Given the description of an element on the screen output the (x, y) to click on. 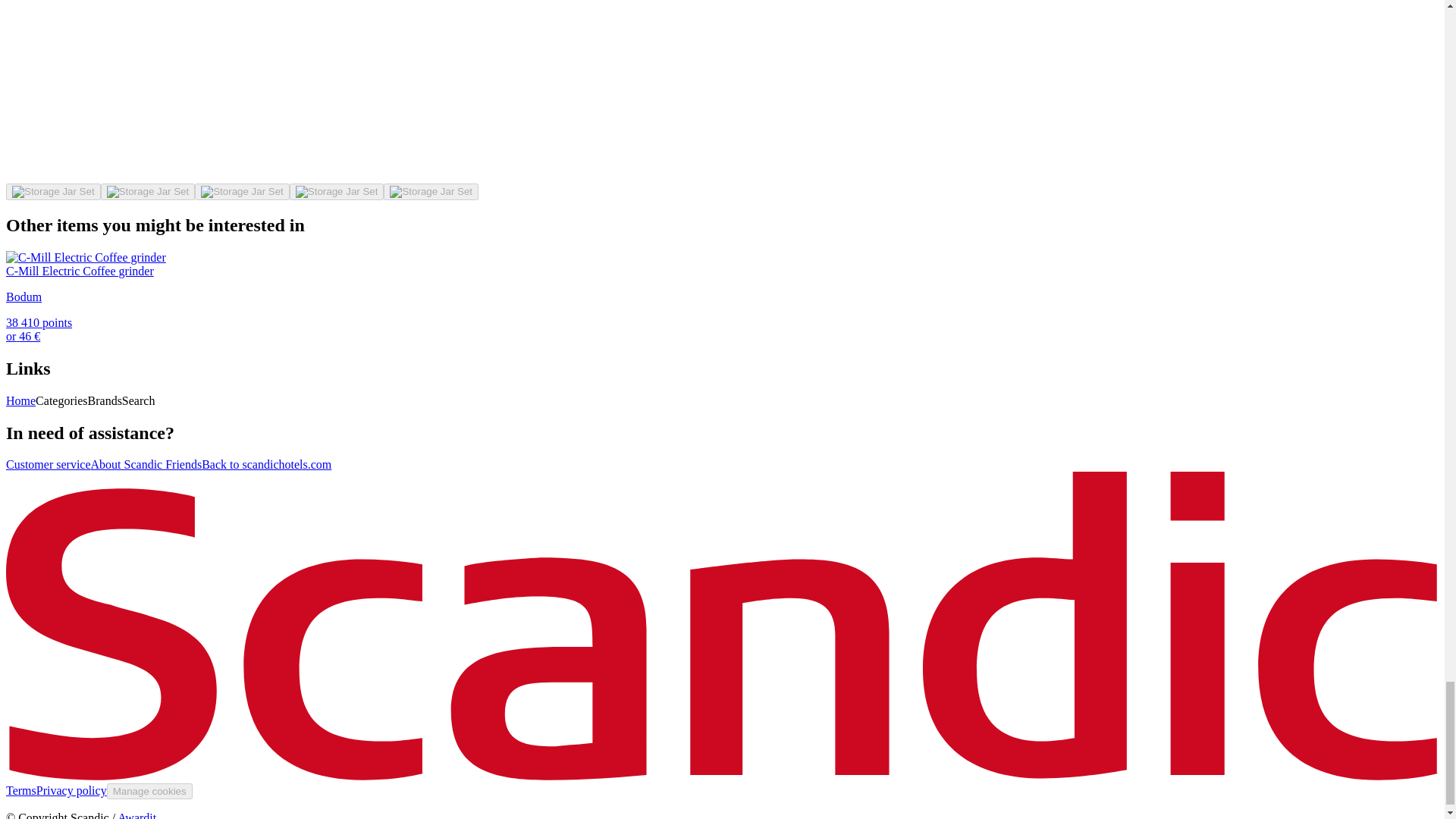
Back to scandichotels.com (266, 463)
Home (19, 400)
Privacy policy (71, 789)
About Scandic Friends (146, 463)
Customer service (47, 463)
Terms (20, 789)
